Given the description of an element on the screen output the (x, y) to click on. 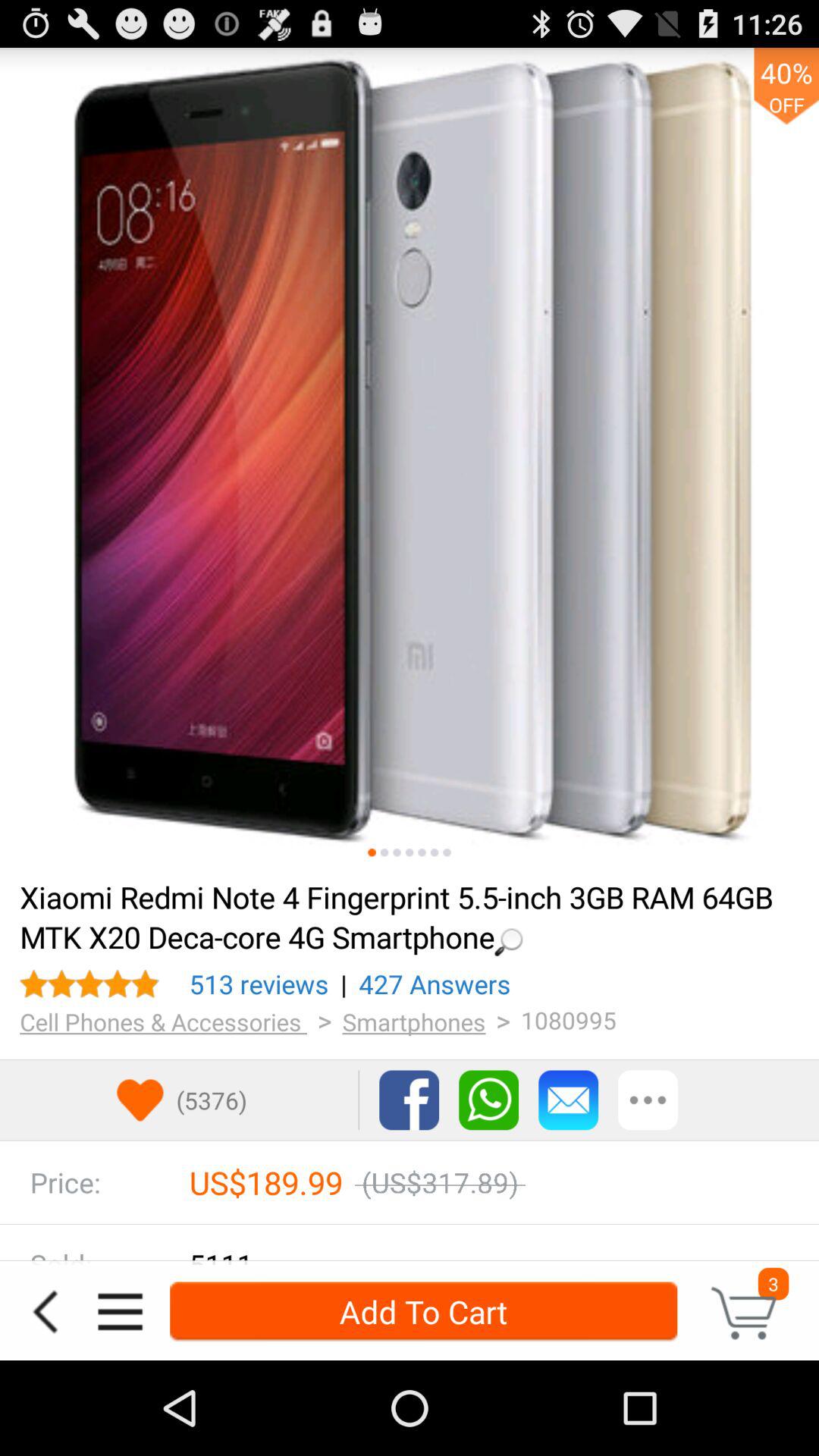
choose the app next to > (413, 1021)
